Given the description of an element on the screen output the (x, y) to click on. 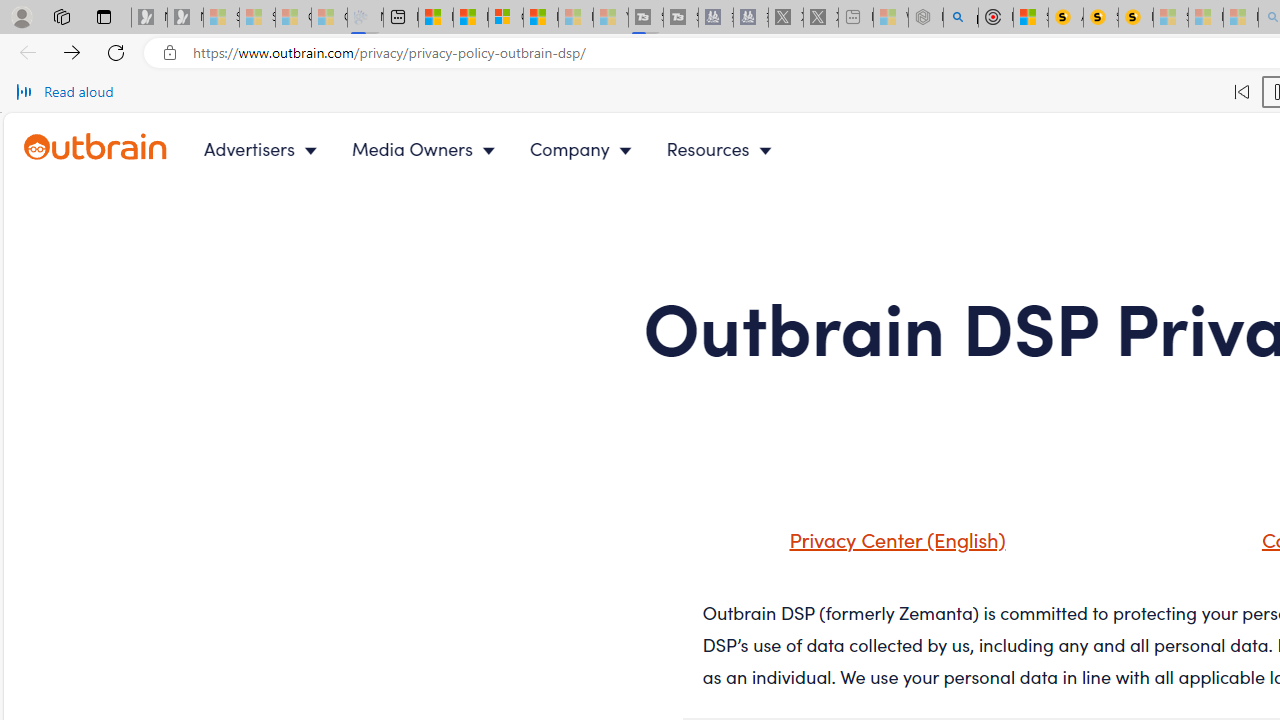
Streaming Coverage | T3 - Sleeping (645, 17)
New tab - Sleeping (855, 17)
View site information (169, 53)
Advertisers (264, 148)
Media Owners (427, 148)
poe - Search (960, 17)
